Given the description of an element on the screen output the (x, y) to click on. 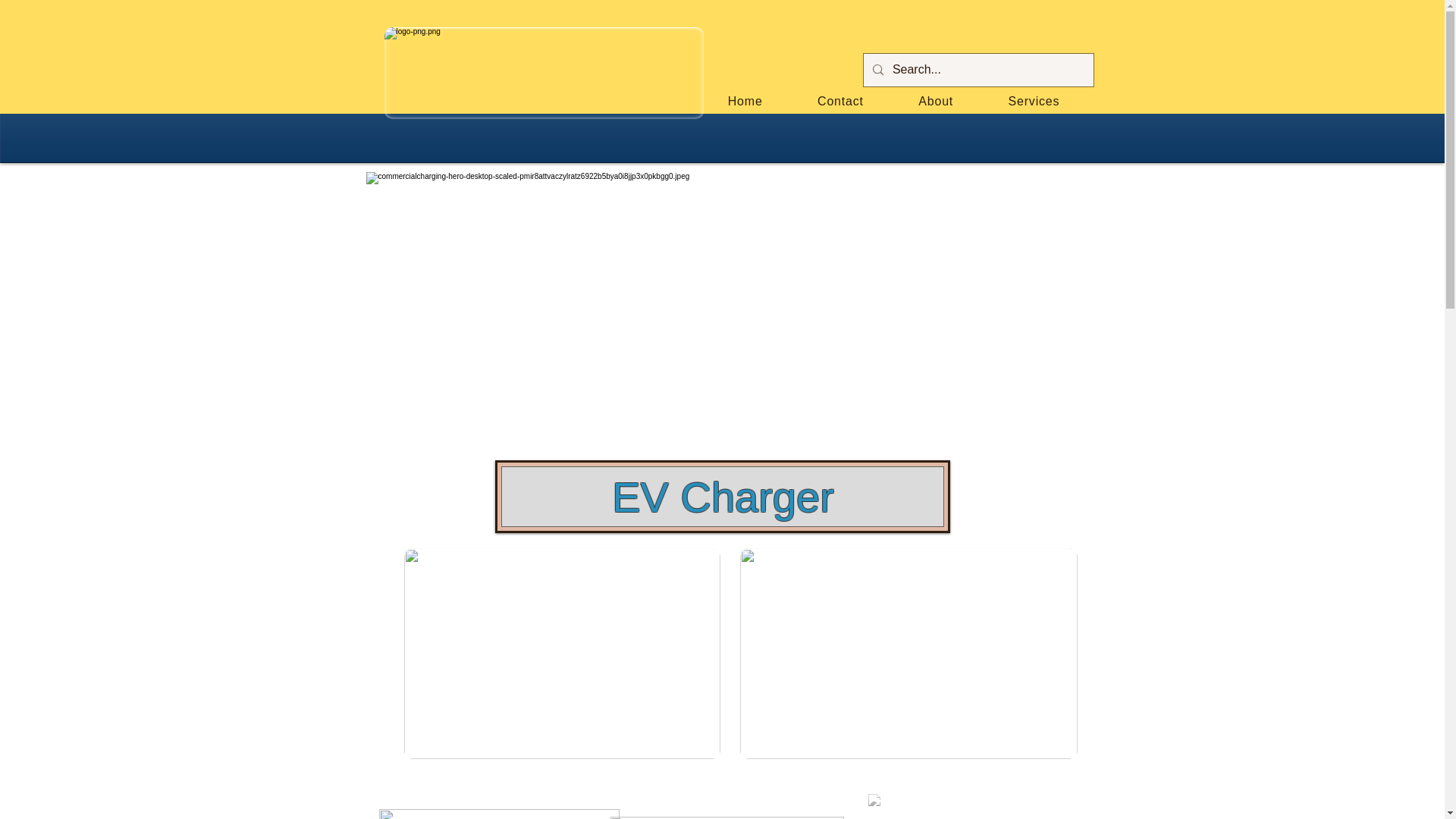
Services (1033, 101)
About (934, 101)
Screenshot 2023-04-14 002352.png (543, 72)
Home (745, 101)
Smart-EV-Charger-hero-banner-mobile.jpg (908, 653)
Contact (840, 101)
